Given the description of an element on the screen output the (x, y) to click on. 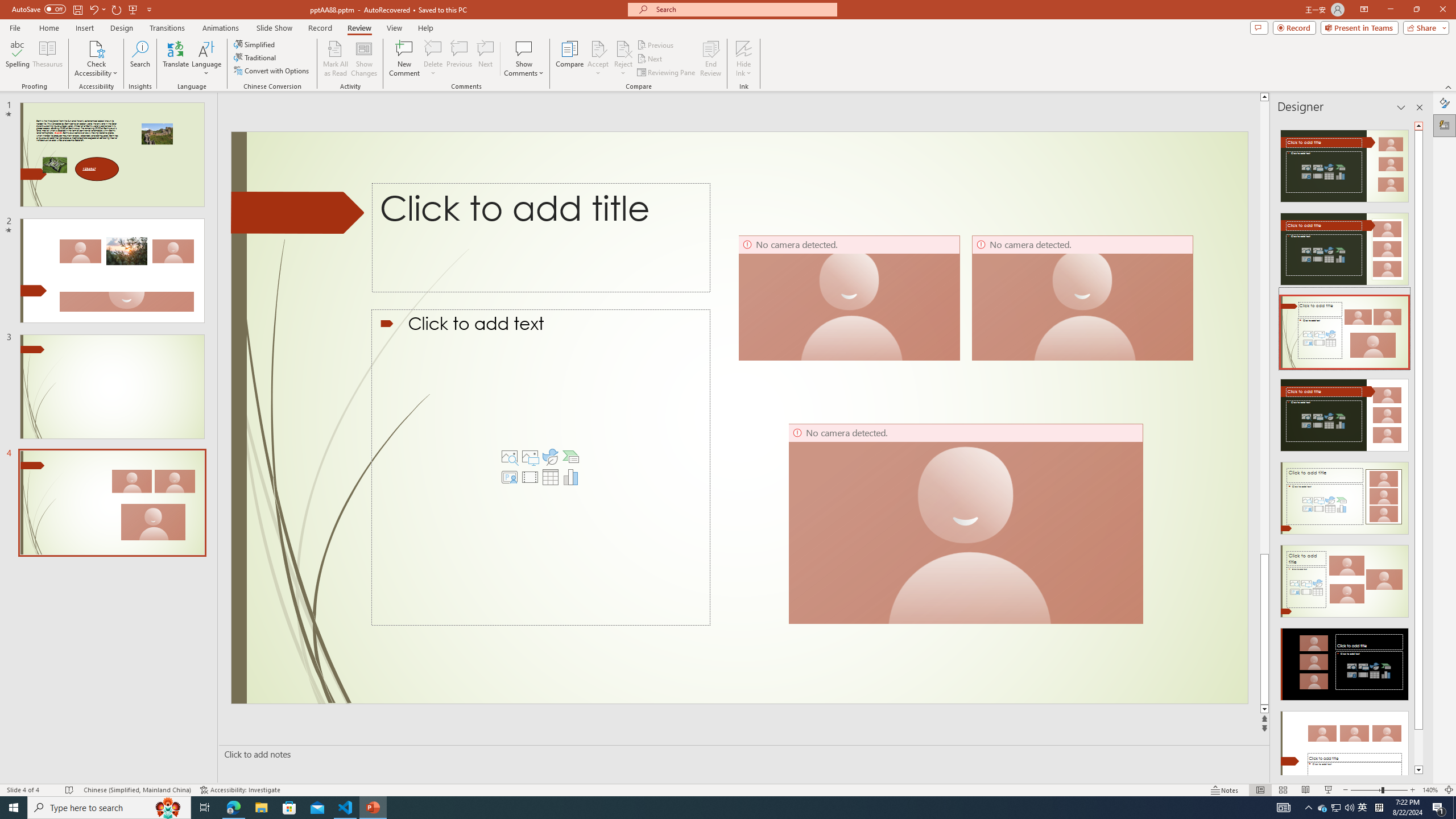
Check Accessibility (95, 58)
Accept Change (598, 48)
Close pane (1419, 107)
Convert with Options... (272, 69)
Class: NetUIImage (1344, 746)
New Comment (403, 58)
Language (206, 58)
Microsoft search (742, 9)
Accessibility Checker Accessibility: Investigate (240, 790)
Insert Video (529, 477)
Previous (655, 44)
Simplified (254, 44)
